Given the description of an element on the screen output the (x, y) to click on. 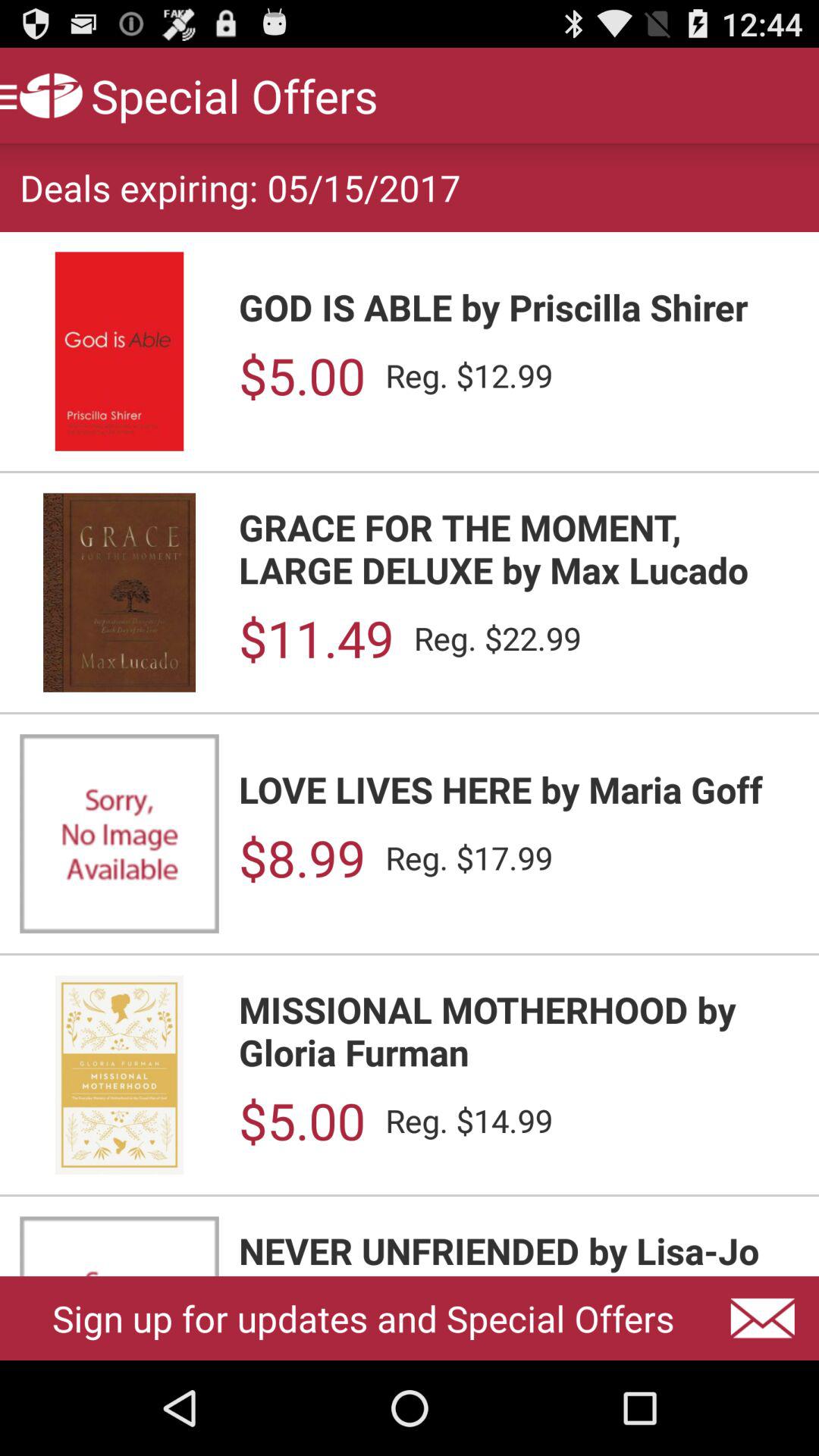
click the $11.49 app (316, 638)
